Given the description of an element on the screen output the (x, y) to click on. 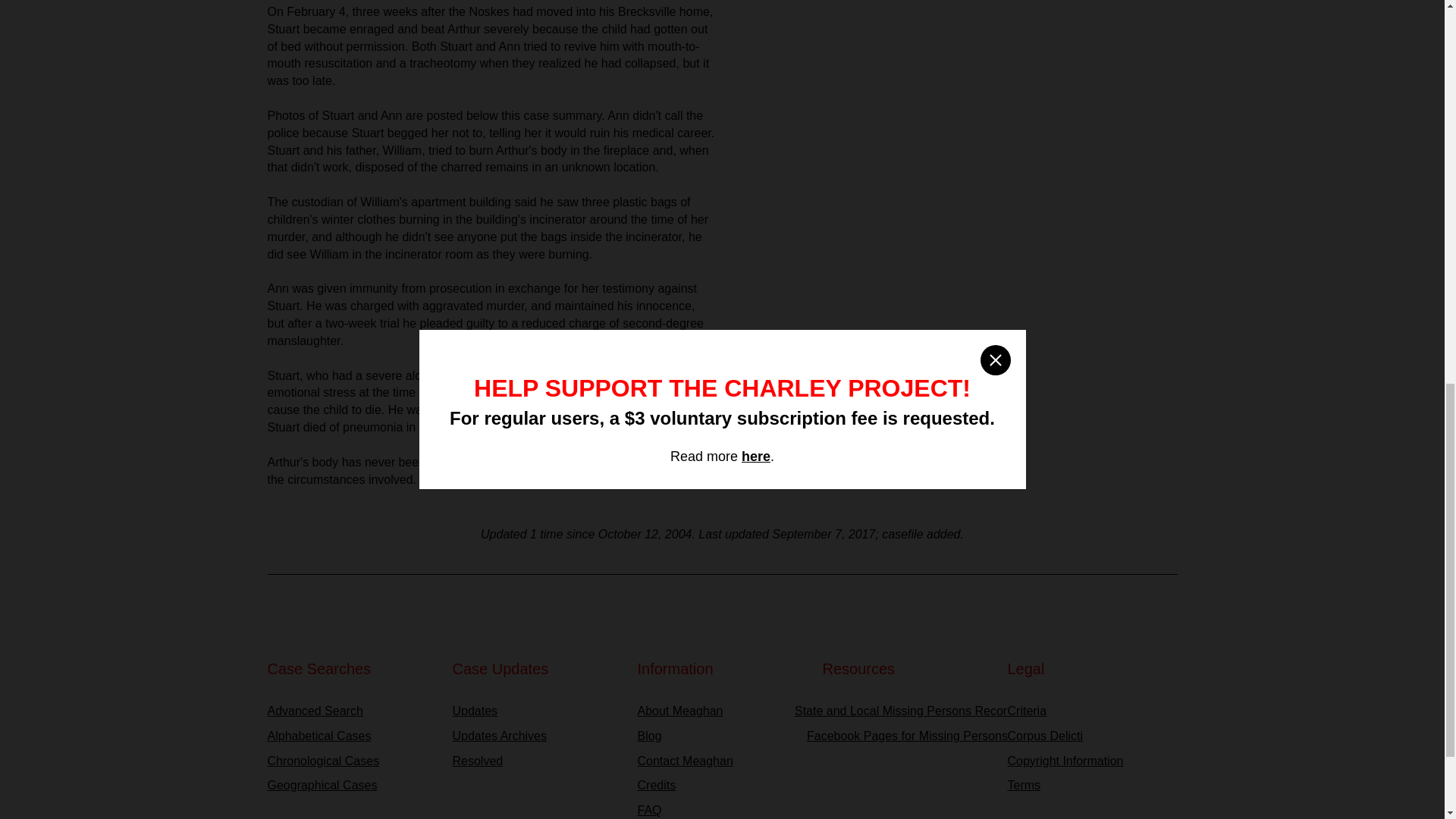
Updates Archives (536, 736)
Chronological Cases (351, 761)
Updates (536, 711)
Resolved (536, 761)
Advanced Search (351, 711)
About Meaghan (721, 711)
Geographical Cases (351, 785)
Alphabetical Cases (351, 736)
